Given the description of an element on the screen output the (x, y) to click on. 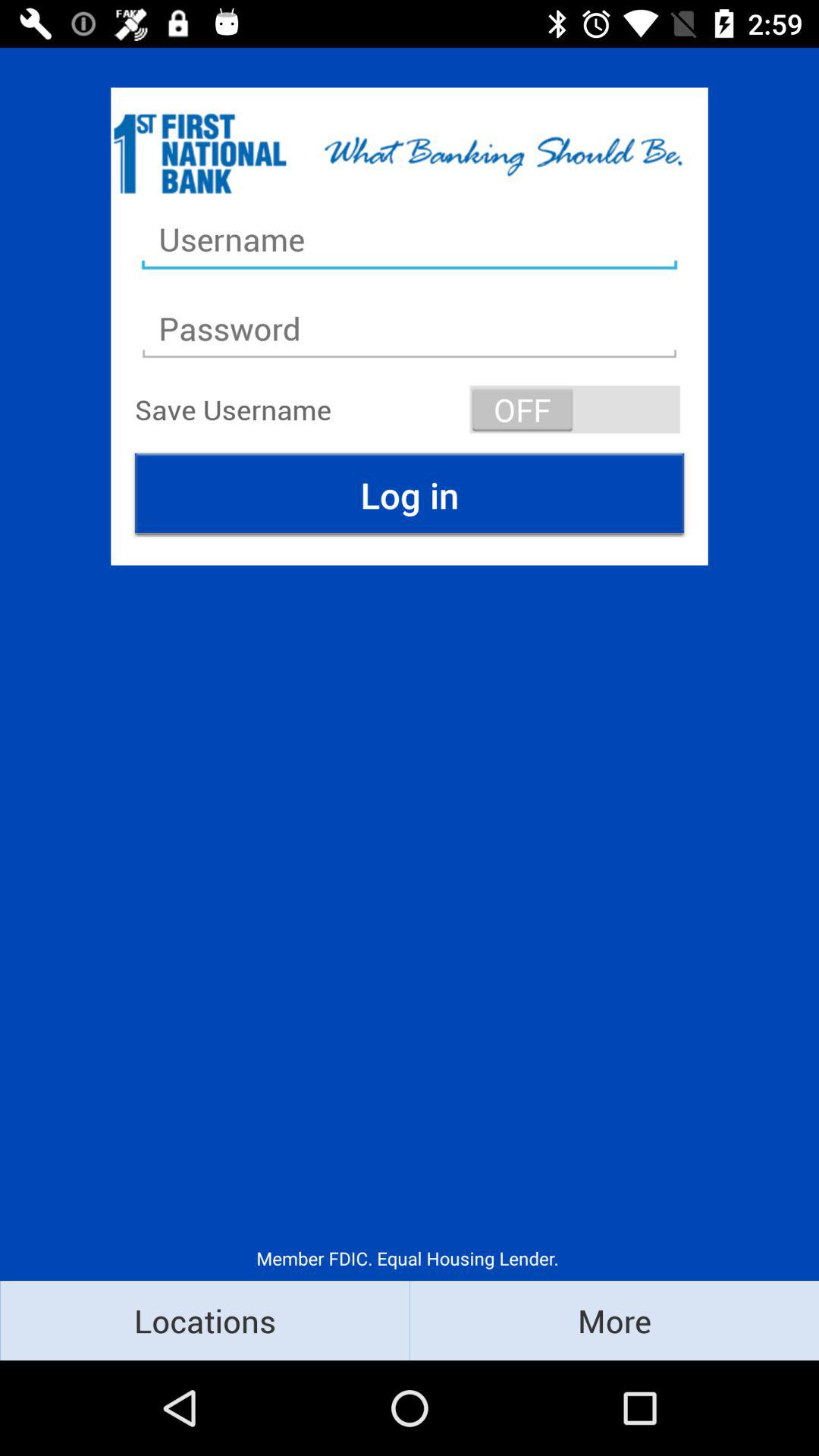
press the item above the member fdic equal (409, 494)
